Given the description of an element on the screen output the (x, y) to click on. 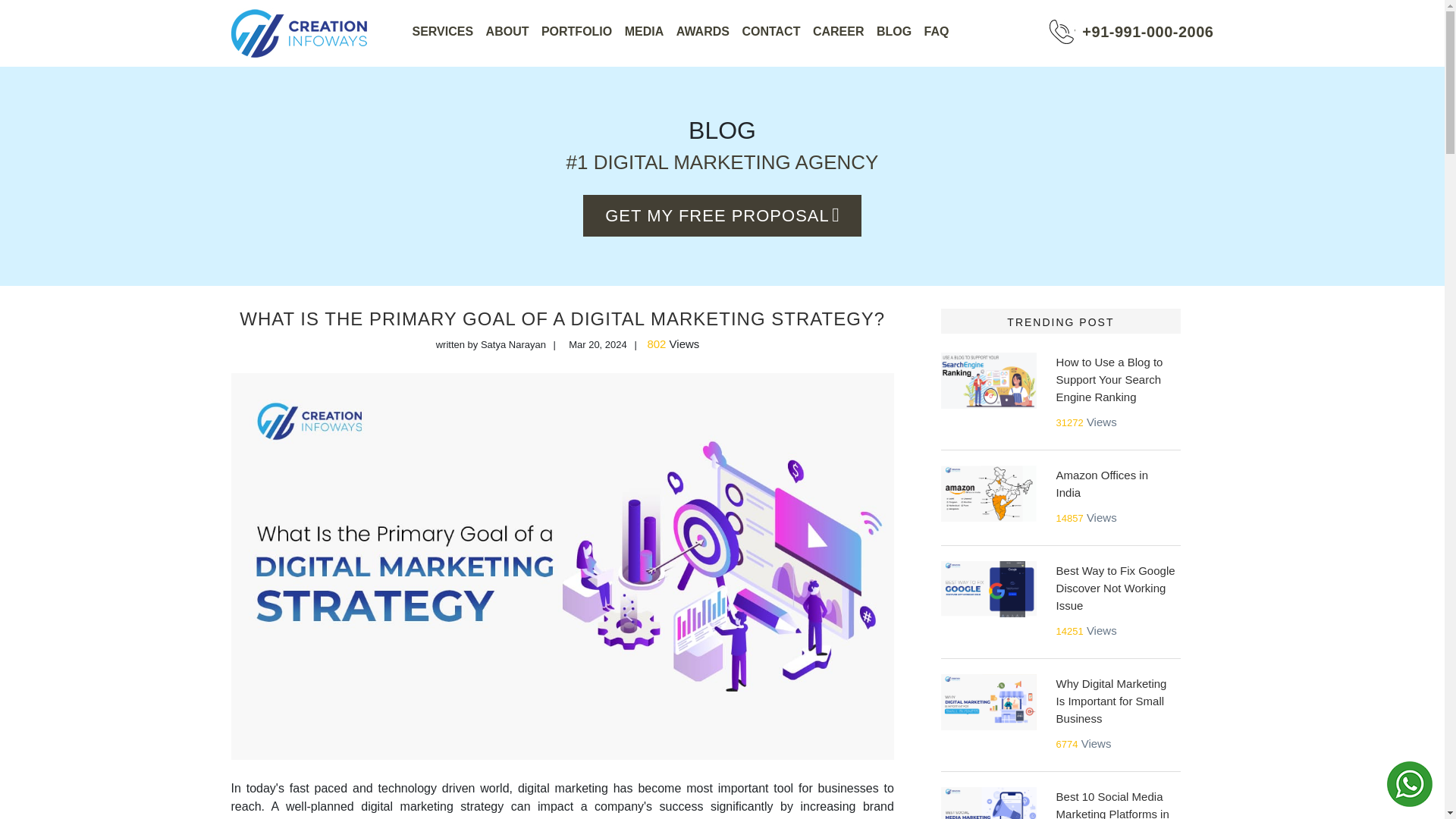
CONTACT (770, 31)
whatsapp (1409, 783)
ABOUT (507, 31)
AWARDS (703, 31)
GET MY FREE PROPOSAL (721, 215)
FAQ (936, 31)
PORTFOLIO (576, 31)
MEDIA (643, 31)
Amazon Offices in India (1102, 483)
CAREER (838, 31)
How to Use a Blog to Support Your Search Engine Ranking (1110, 379)
BLOG (893, 31)
SERVICES (443, 31)
